Given the description of an element on the screen output the (x, y) to click on. 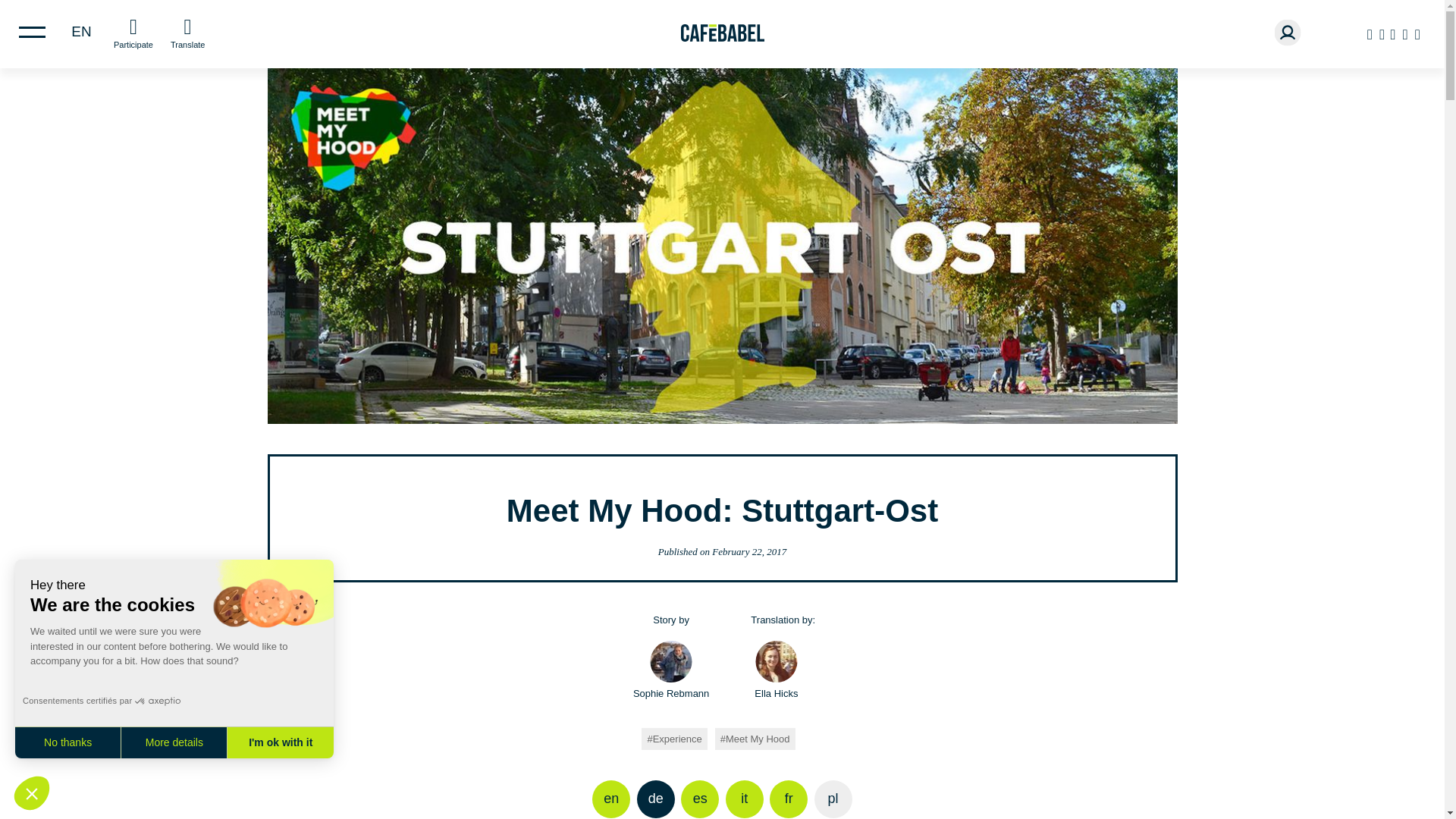
Original language (656, 799)
Participate (132, 31)
Participate (132, 31)
0 (28, 784)
